Given the description of an element on the screen output the (x, y) to click on. 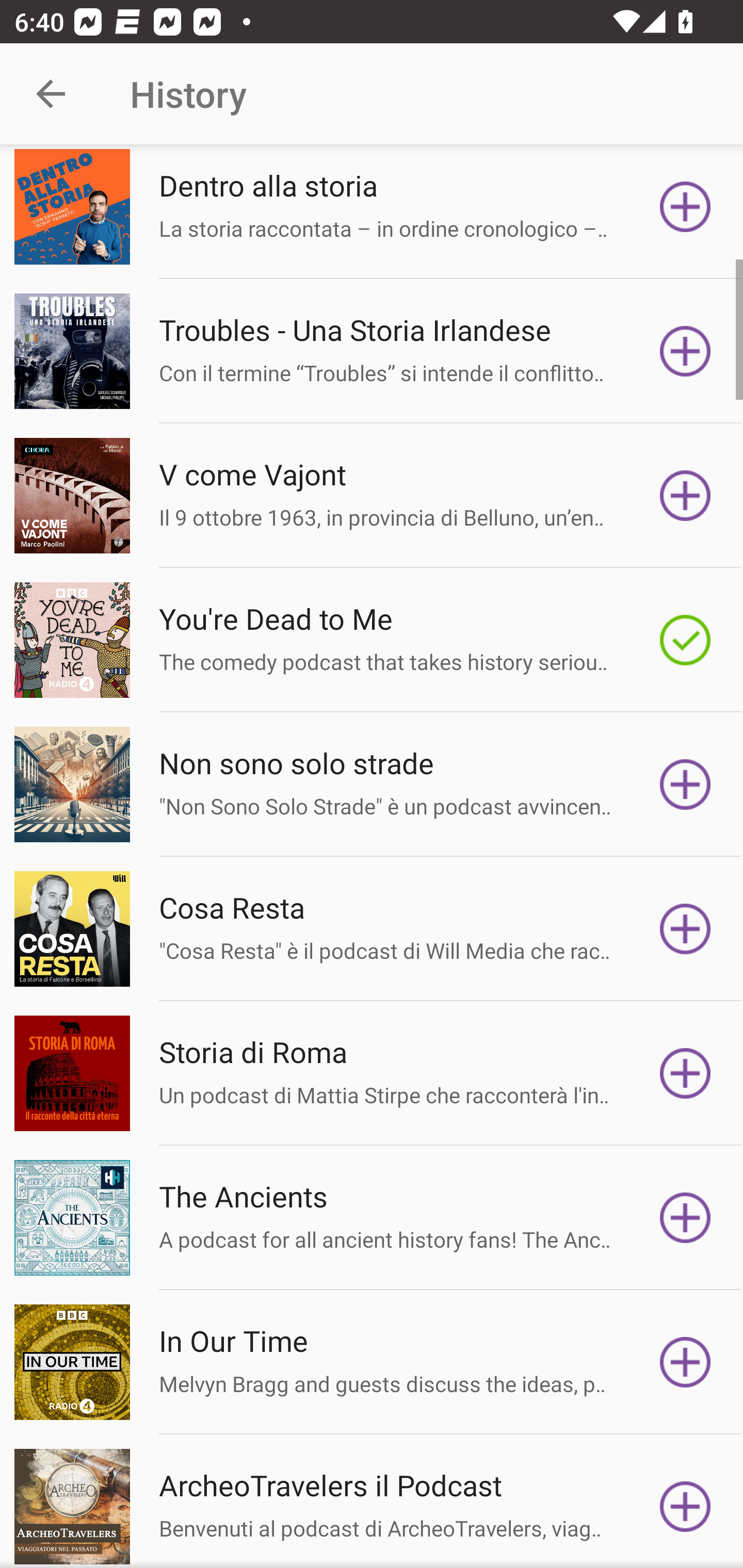
Navigate up (50, 93)
Subscribe (685, 206)
Subscribe (685, 351)
Subscribe (685, 495)
Subscribed (685, 639)
Subscribe (685, 783)
Subscribe (685, 928)
Subscribe (685, 1073)
Subscribe (685, 1217)
Subscribe (685, 1362)
Subscribe (685, 1506)
